Given the description of an element on the screen output the (x, y) to click on. 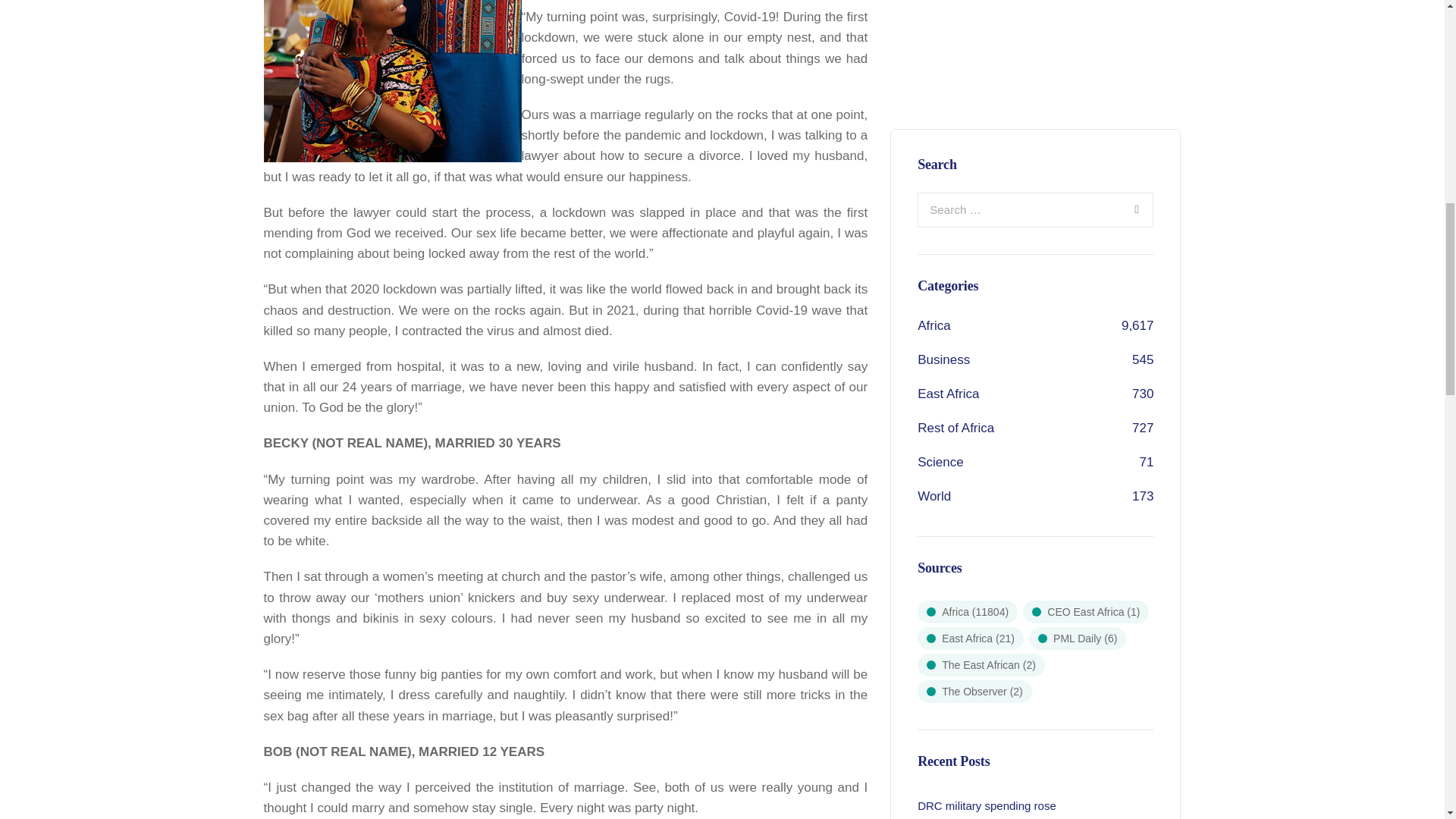
Rest of Africa (955, 74)
East Africa (947, 41)
World (933, 143)
Science (939, 109)
african-couple-1 (392, 81)
Business (943, 7)
